Given the description of an element on the screen output the (x, y) to click on. 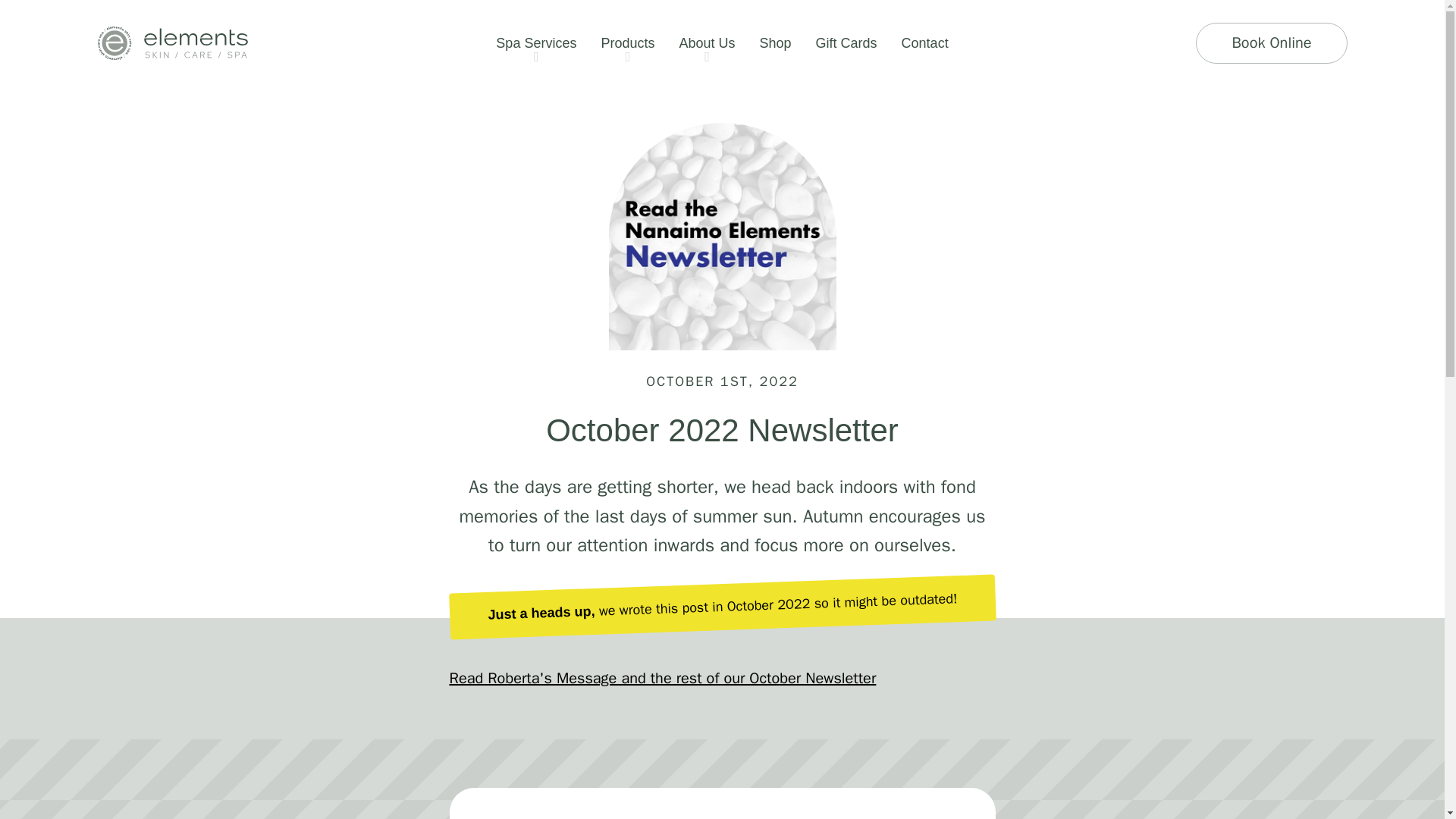
Gift Cards (846, 43)
Products (627, 43)
About Us (706, 43)
Book Online (1271, 42)
Spa Services (535, 43)
